Given the description of an element on the screen output the (x, y) to click on. 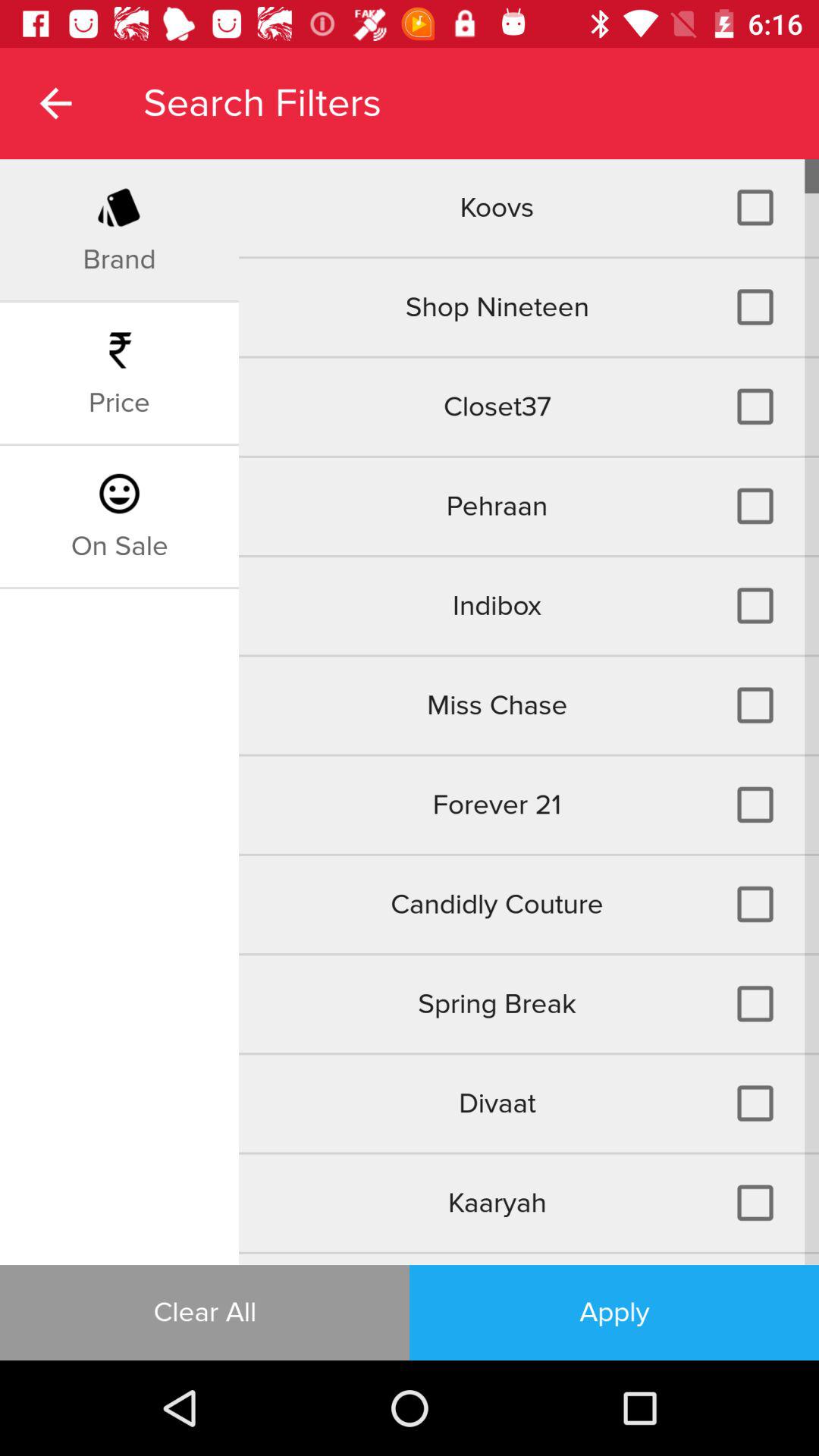
select the item to the left of search filters item (55, 103)
